Given the description of an element on the screen output the (x, y) to click on. 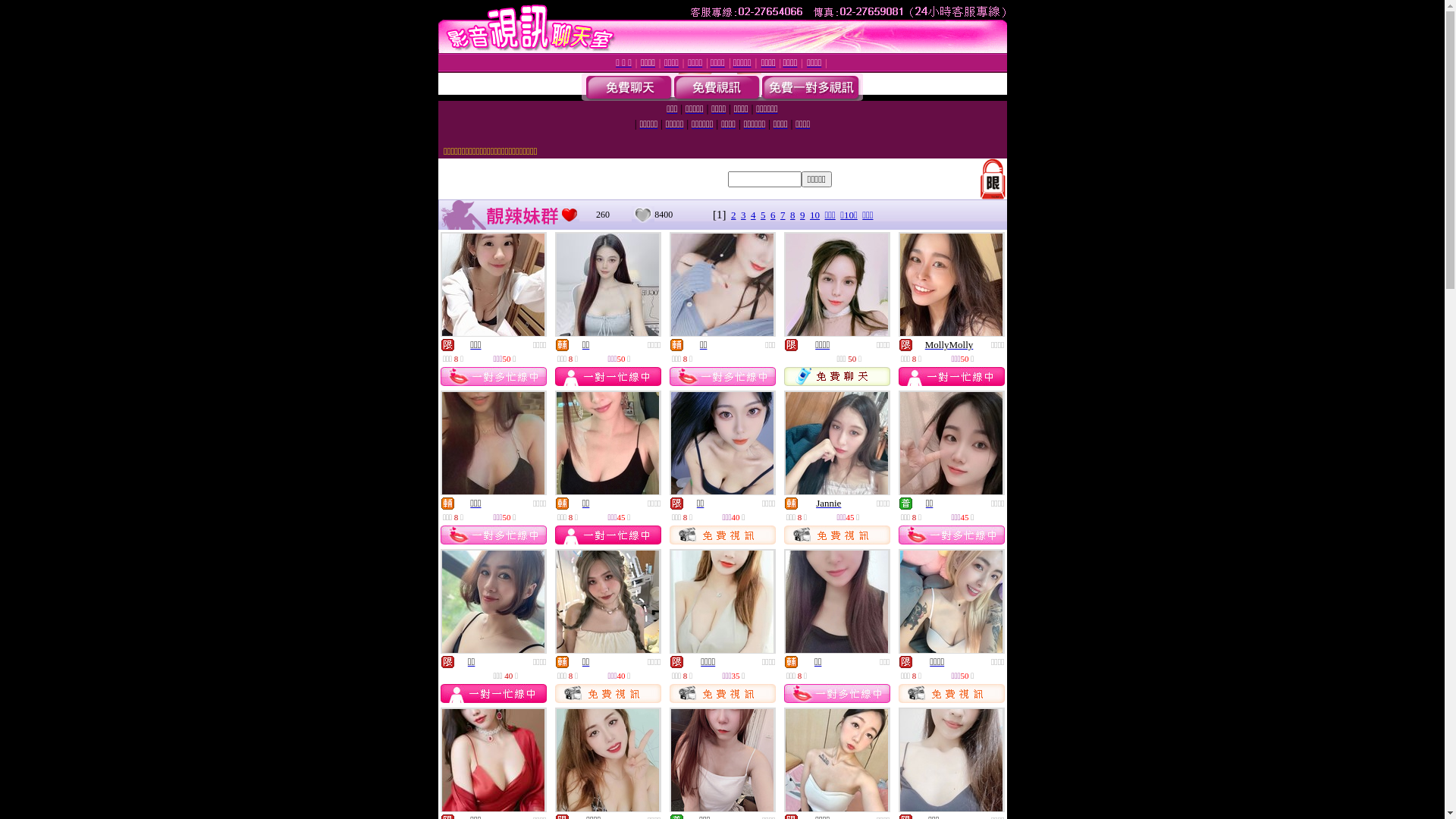
10 Element type: text (814, 214)
MollyMolly Element type: text (949, 344)
7 Element type: text (782, 214)
6 Element type: text (772, 214)
8 Element type: text (792, 214)
5 Element type: text (762, 214)
3 Element type: text (743, 214)
9 Element type: text (802, 214)
Jannie Element type: text (827, 502)
2 Element type: text (733, 214)
4 Element type: text (753, 214)
